Given the description of an element on the screen output the (x, y) to click on. 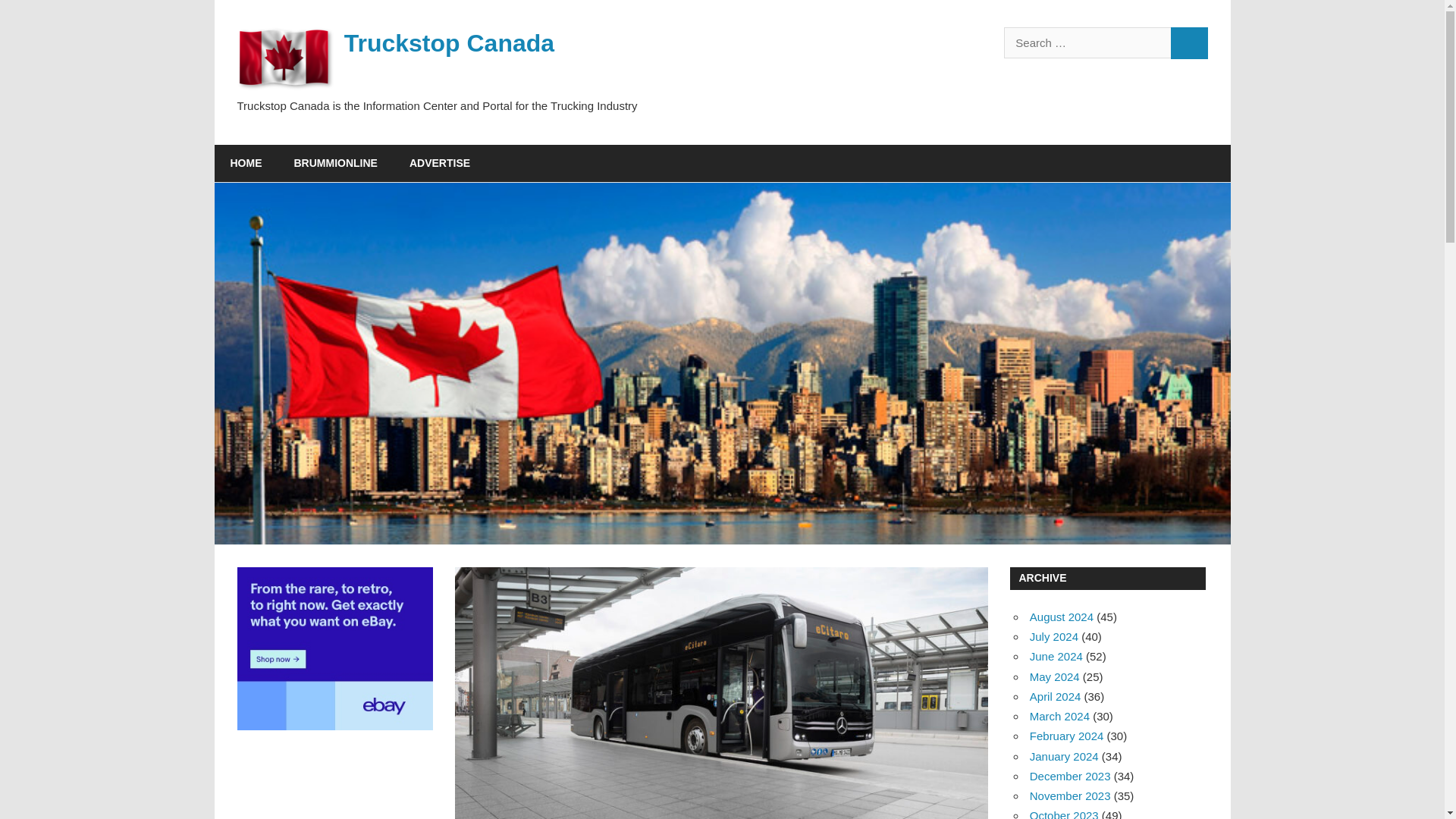
June 2024 (1056, 656)
BRUMMIONLINE (335, 163)
October 2023 (1064, 814)
March 2024 (1059, 716)
February 2024 (1066, 735)
January 2024 (1064, 756)
August 2024 (1061, 616)
May 2024 (1054, 676)
July 2024 (1053, 635)
HOME (246, 163)
